Given the description of an element on the screen output the (x, y) to click on. 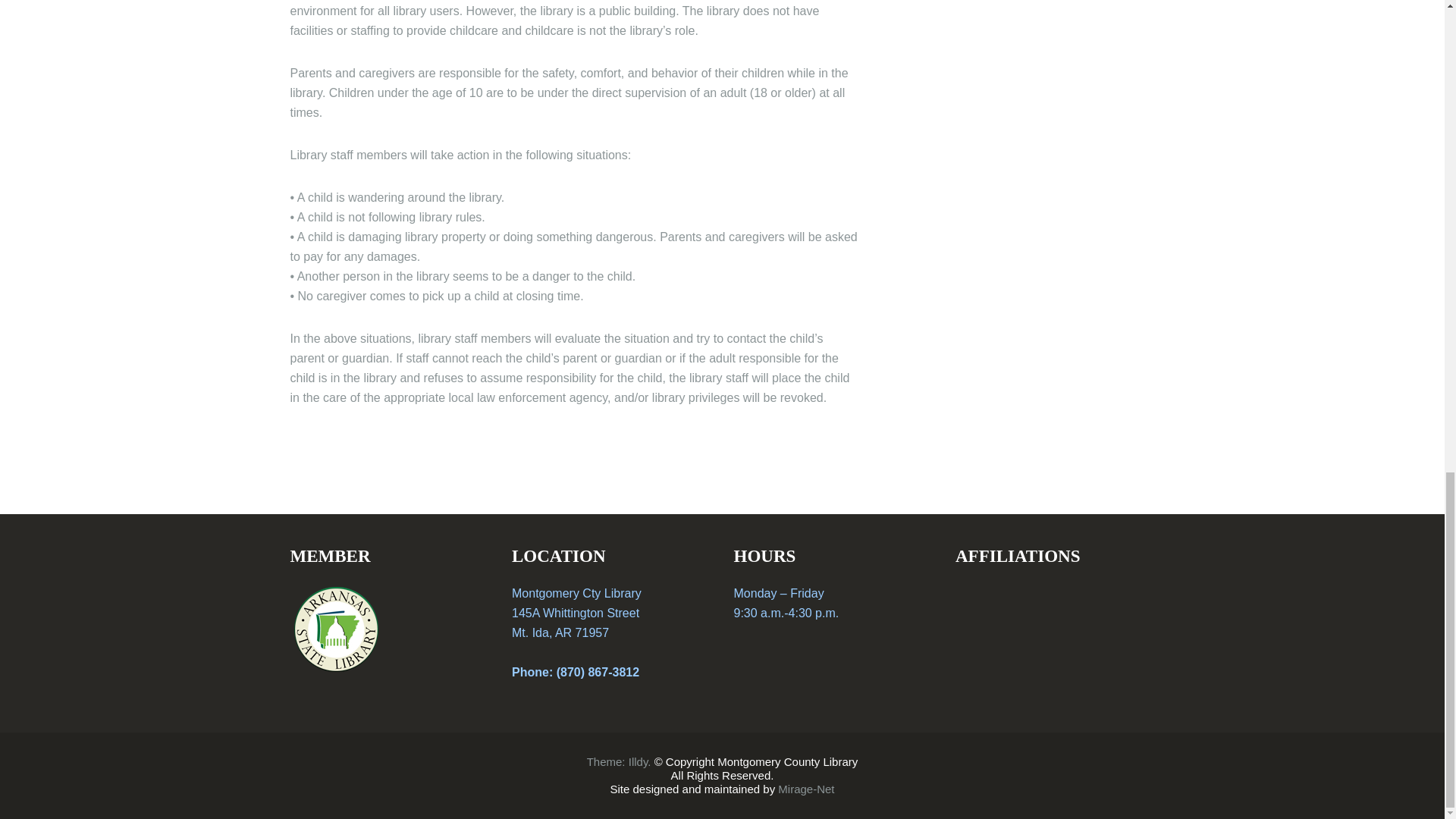
Illdy (637, 761)
Illdy (637, 761)
Mirage-Net (805, 788)
